Given the description of an element on the screen output the (x, y) to click on. 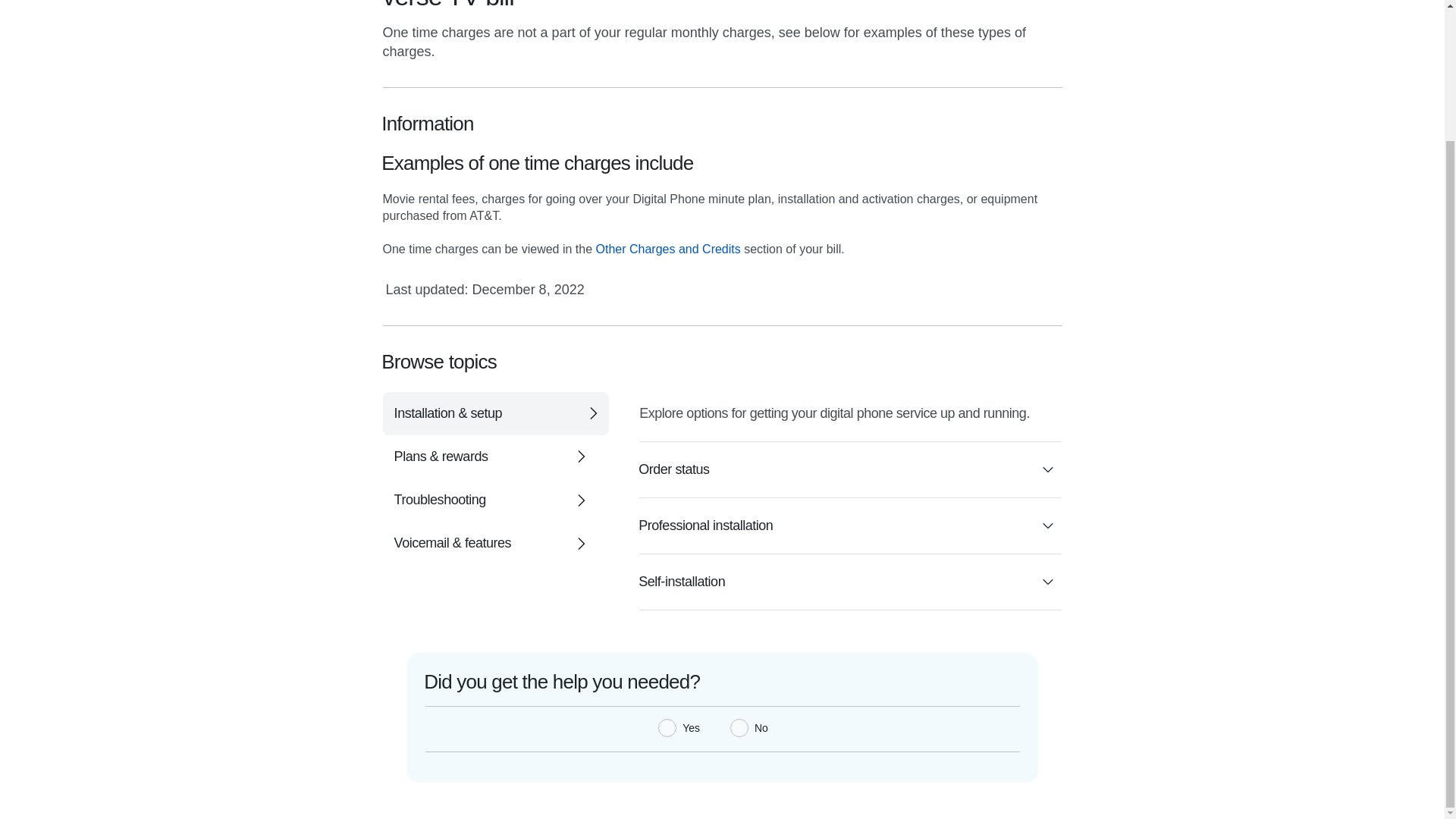
Other Charges and Credits (668, 248)
No (738, 727)
Link opens in a new window (668, 248)
Self-installation (850, 581)
Order status (850, 469)
Professional installation (850, 525)
Yes (667, 727)
